Given the description of an element on the screen output the (x, y) to click on. 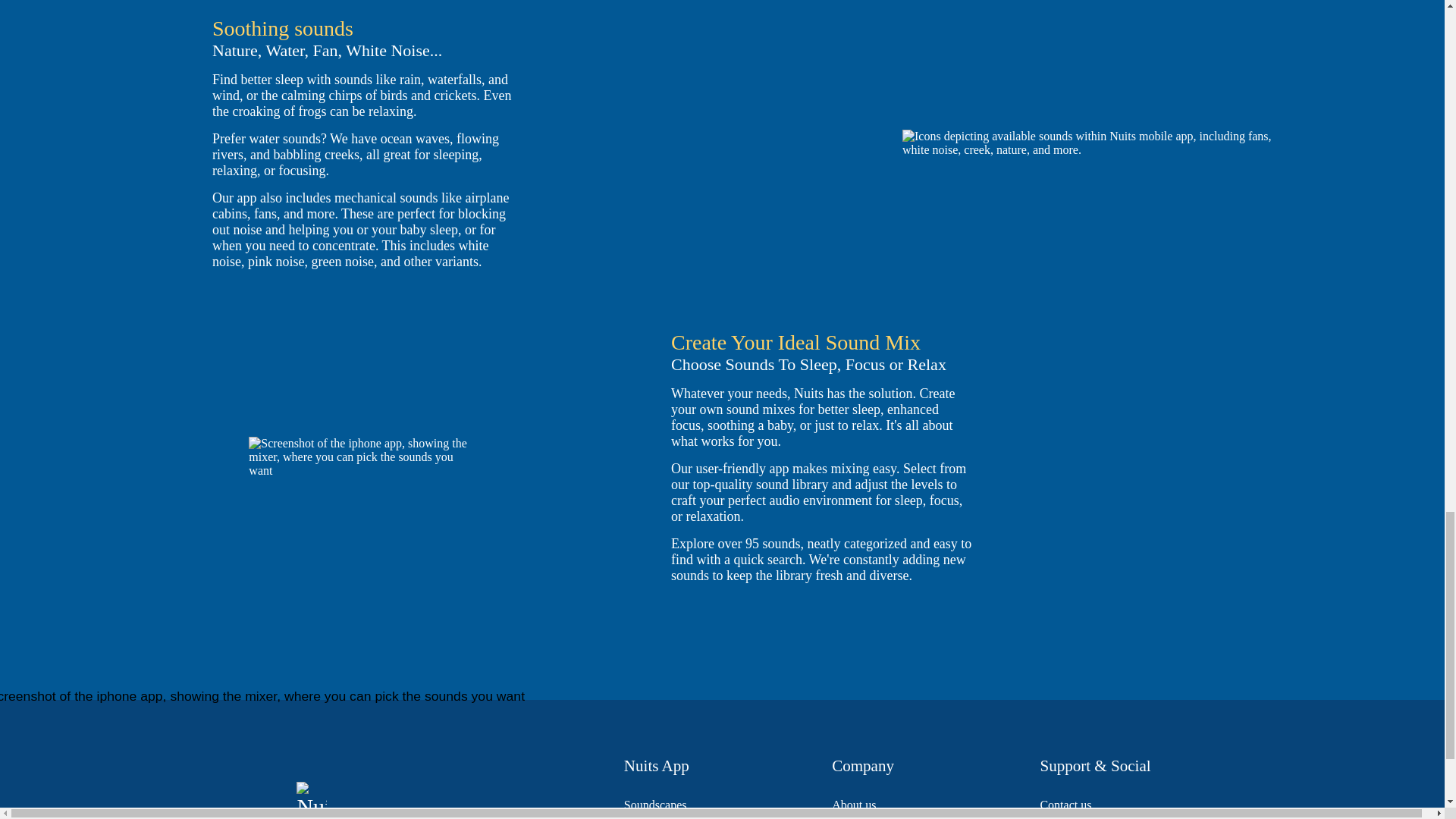
Soundscapes (655, 805)
About us (853, 805)
nuits (311, 800)
